Given the description of an element on the screen output the (x, y) to click on. 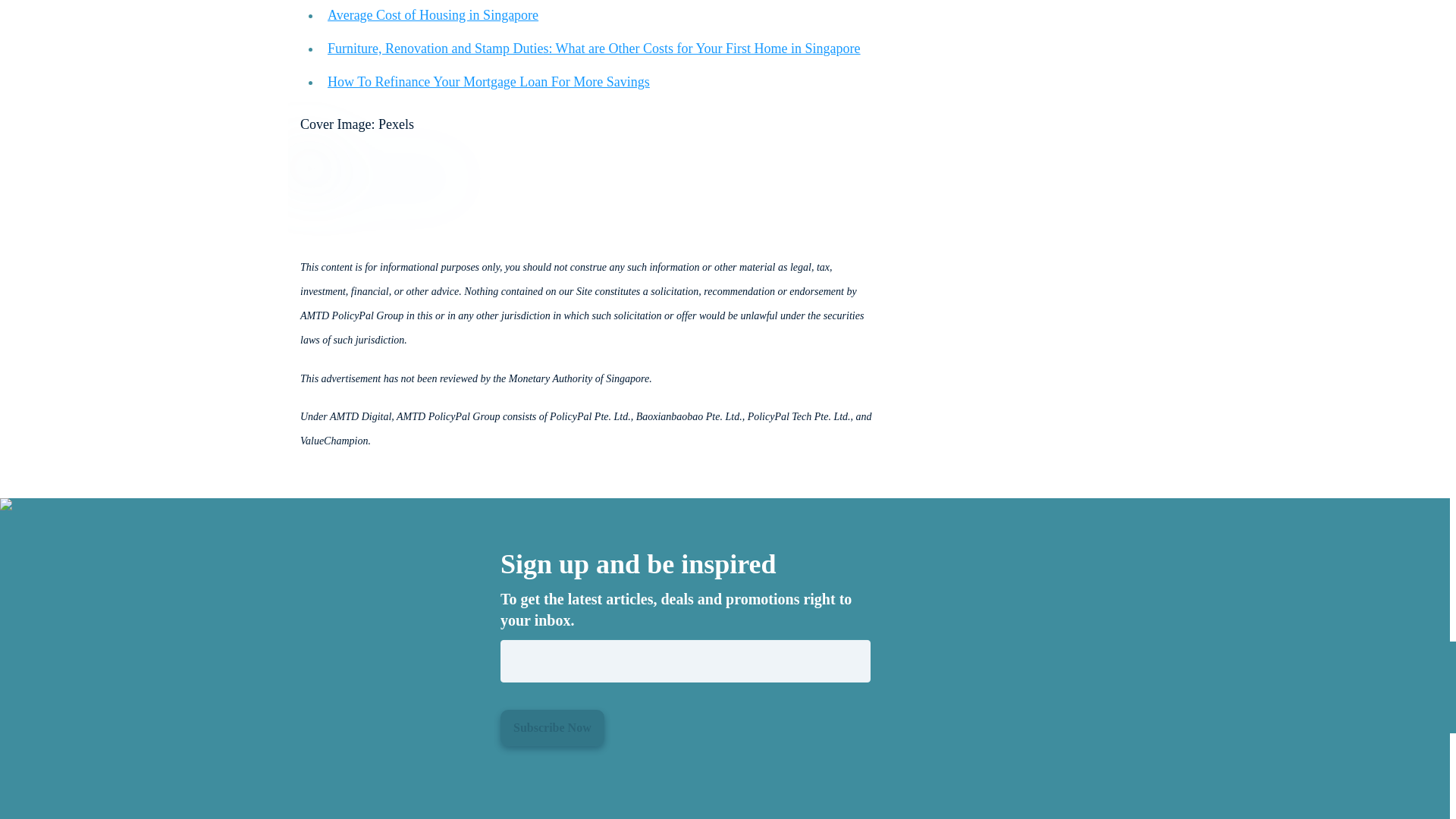
Average Cost of Housing in Singapore 2023 (432, 14)
How To Refinance Your Mortgage Loan For More Savings (488, 81)
